Given the description of an element on the screen output the (x, y) to click on. 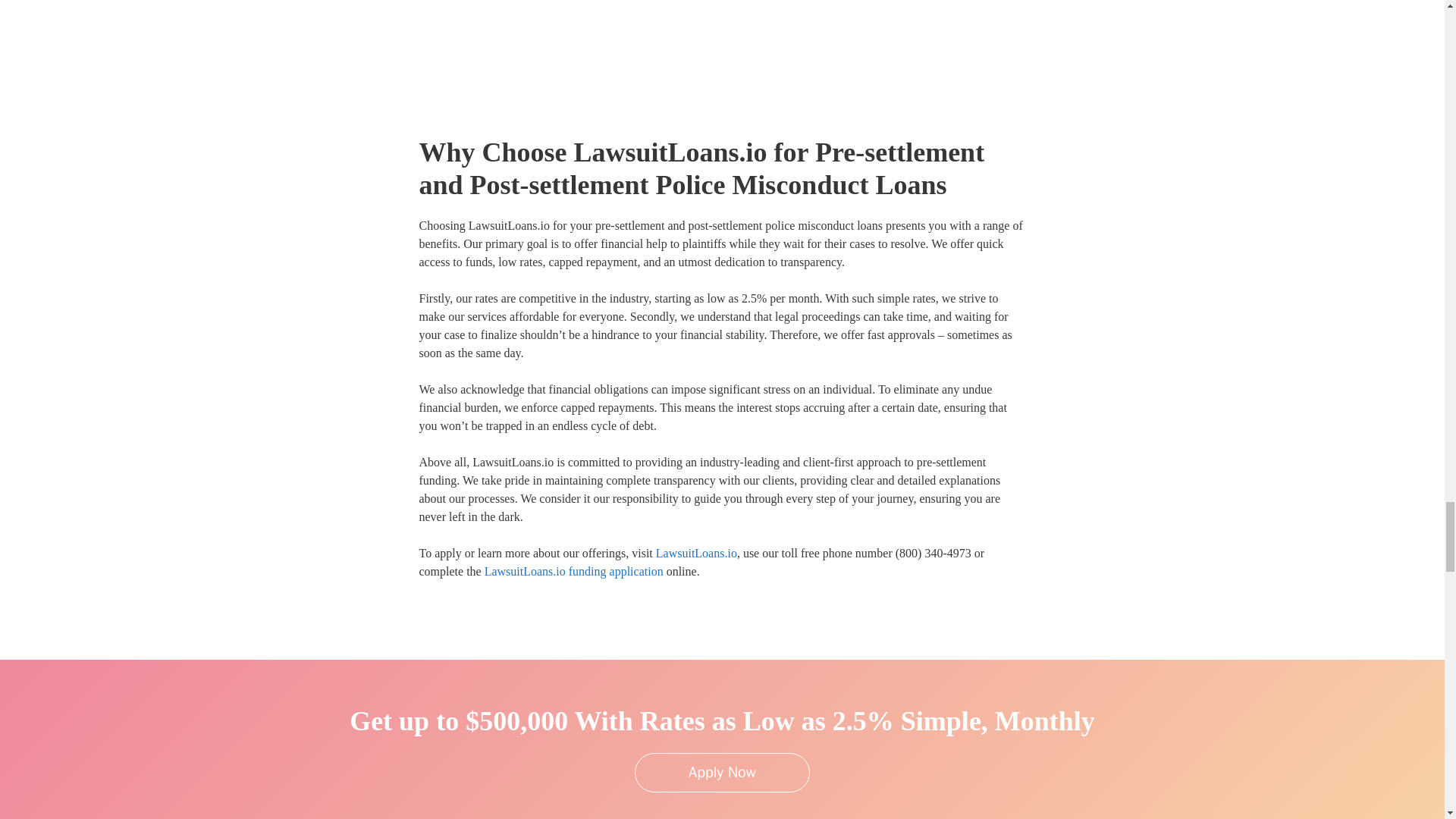
LawsuitLoans.io funding application (573, 571)
Apply Now (721, 772)
LawsuitLoans.io (696, 553)
